Given the description of an element on the screen output the (x, y) to click on. 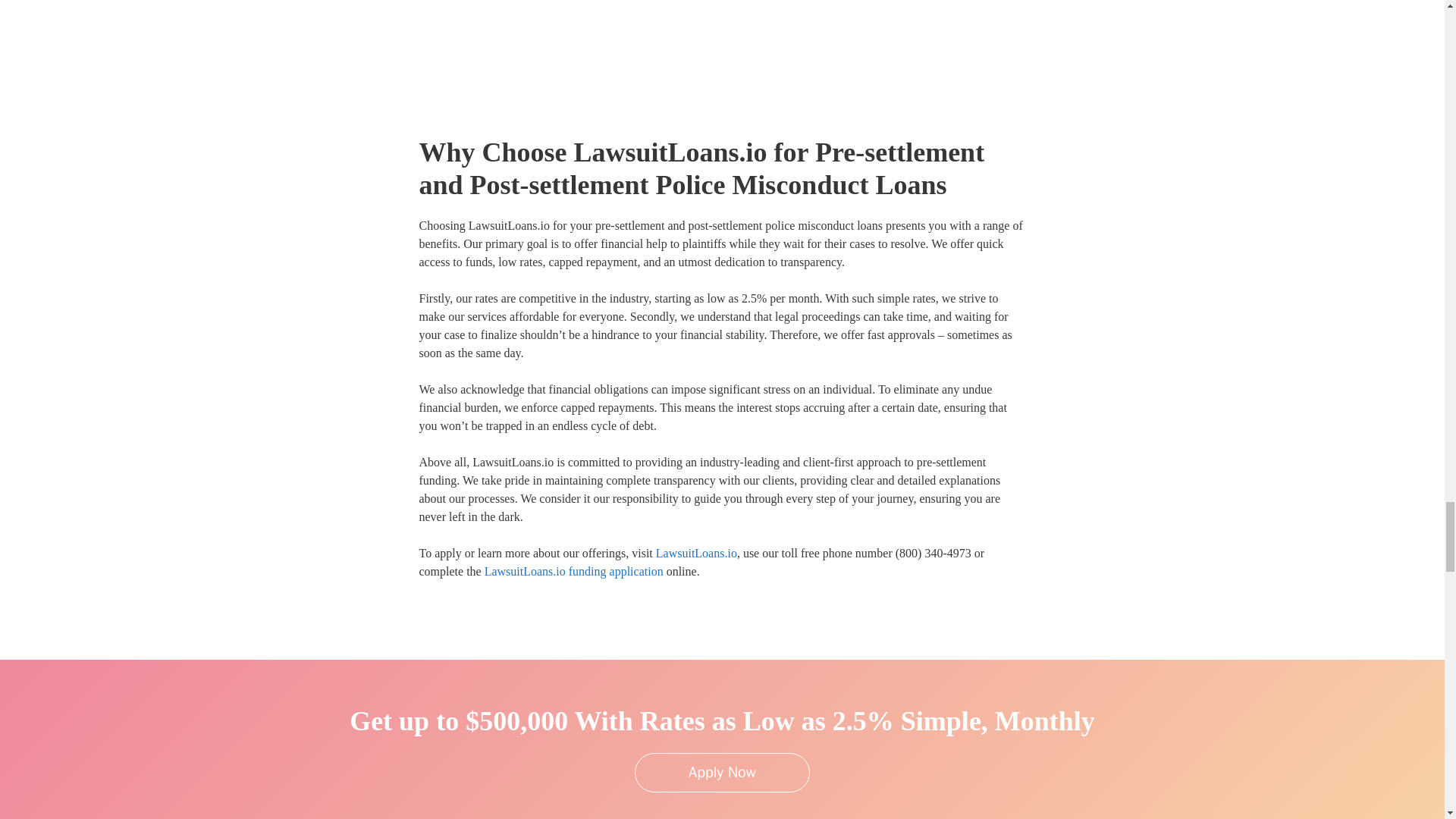
LawsuitLoans.io funding application (573, 571)
Apply Now (721, 772)
LawsuitLoans.io (696, 553)
